Given the description of an element on the screen output the (x, y) to click on. 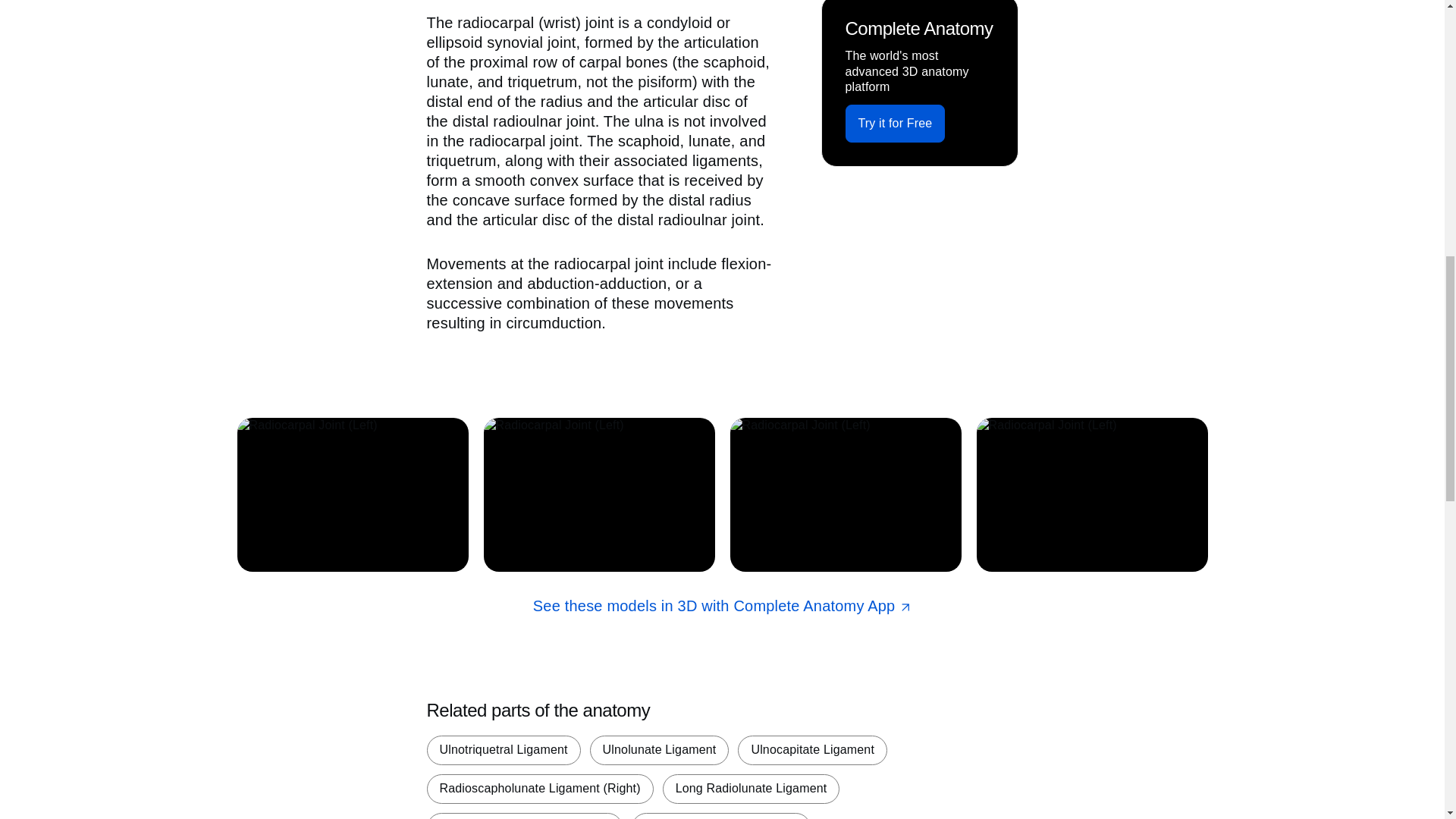
Try it for Free (894, 123)
Long Radiolunate Ligament (751, 788)
Radioscaphocapitate Ligament (523, 816)
Ulnotriquetral Ligament (502, 749)
Ulnolunate Ligament (659, 749)
Ulnocapitate Ligament (812, 749)
Short Radiolunate Ligament (720, 816)
